Given the description of an element on the screen output the (x, y) to click on. 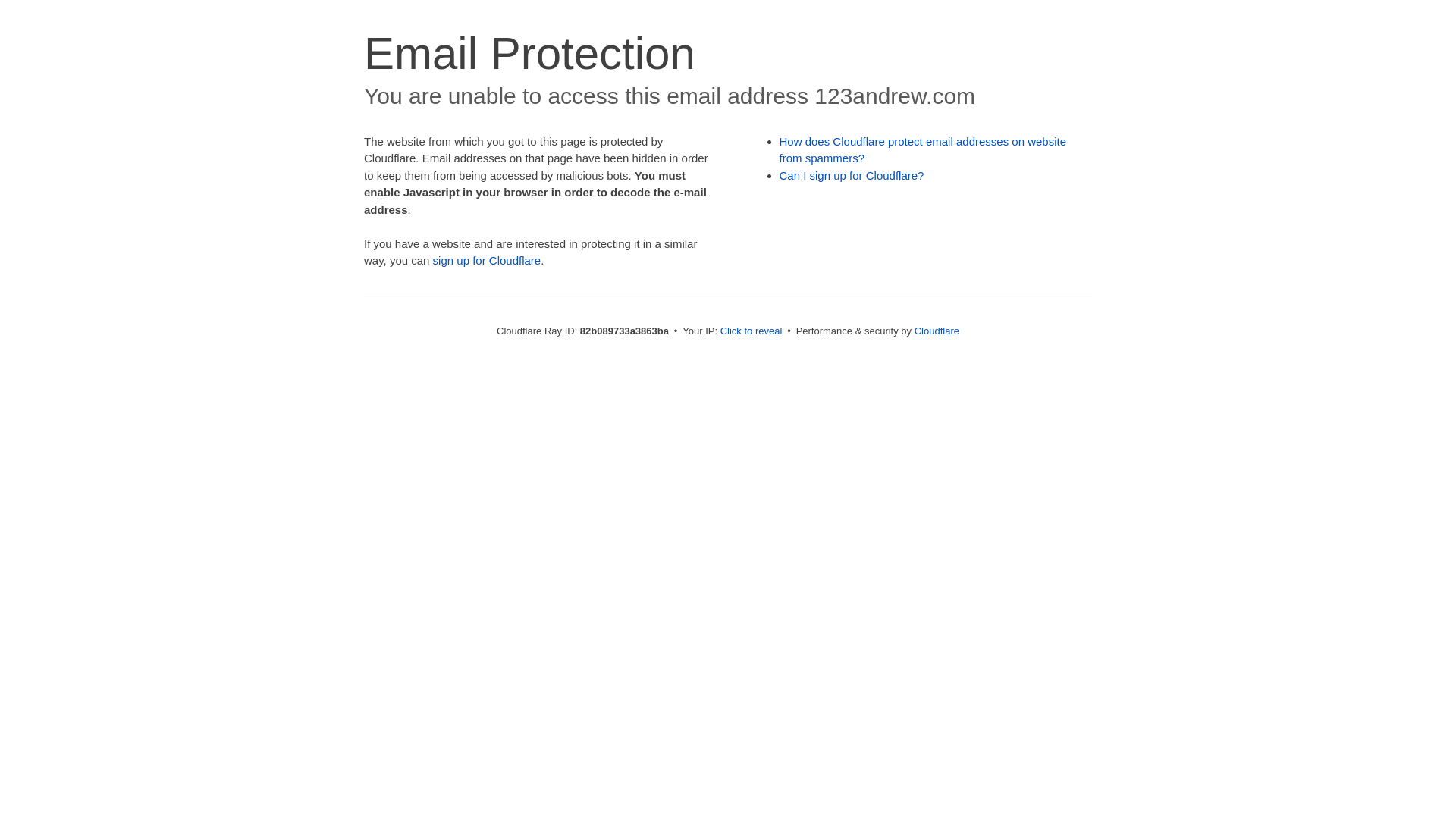
Can I sign up for Cloudflare? Element type: text (851, 175)
sign up for Cloudflare Element type: text (487, 260)
Click to reveal Element type: text (751, 330)
Cloudflare Element type: text (936, 330)
